Given the description of an element on the screen output the (x, y) to click on. 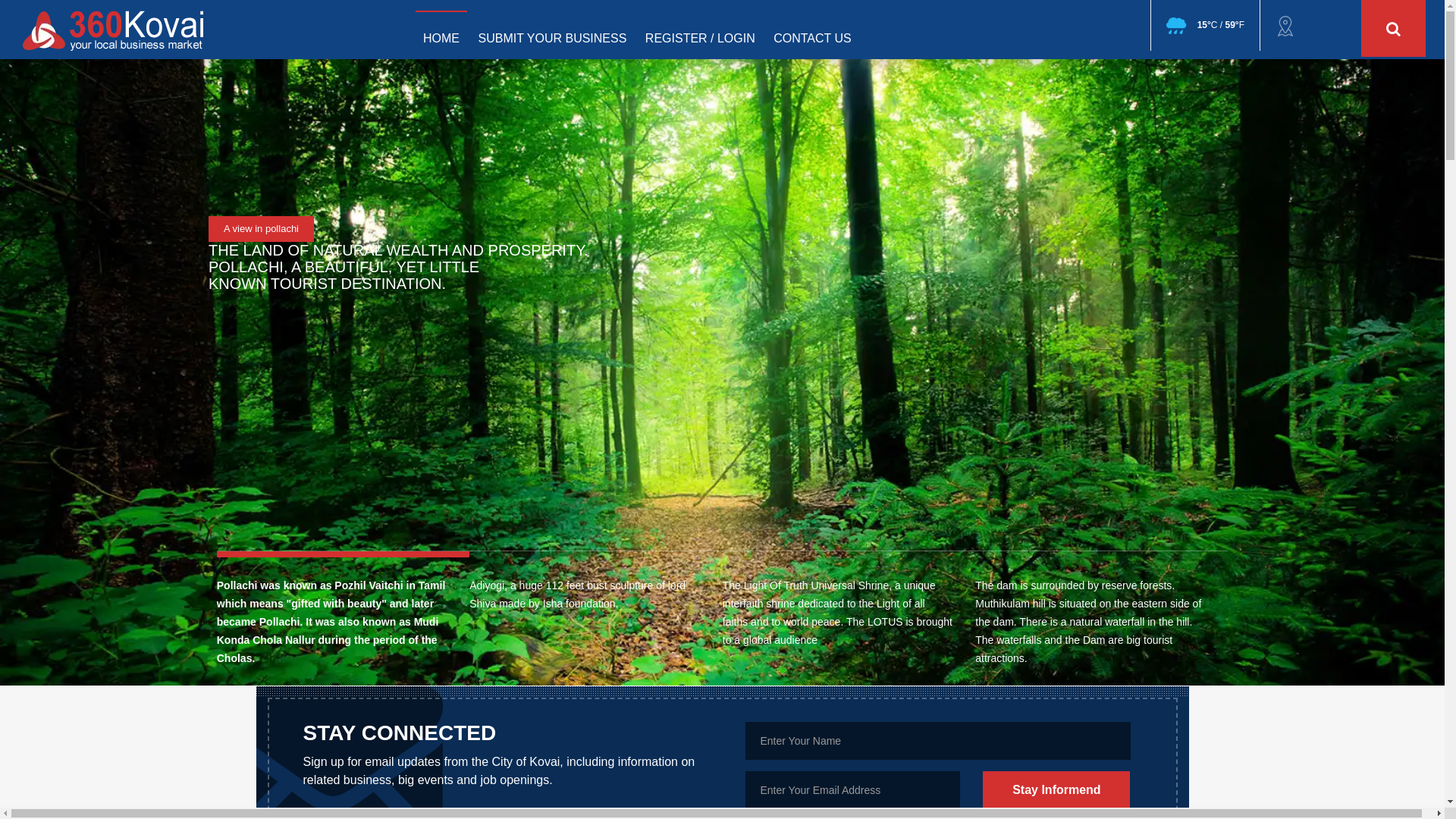
Stay Informend Element type: text (1055, 790)
HOME Element type: text (441, 29)
CONTACT US Element type: text (812, 31)
SUBMIT YOUR BUSINESS Element type: text (551, 31)
REGISTER / LOGIN Element type: text (699, 31)
